Given the description of an element on the screen output the (x, y) to click on. 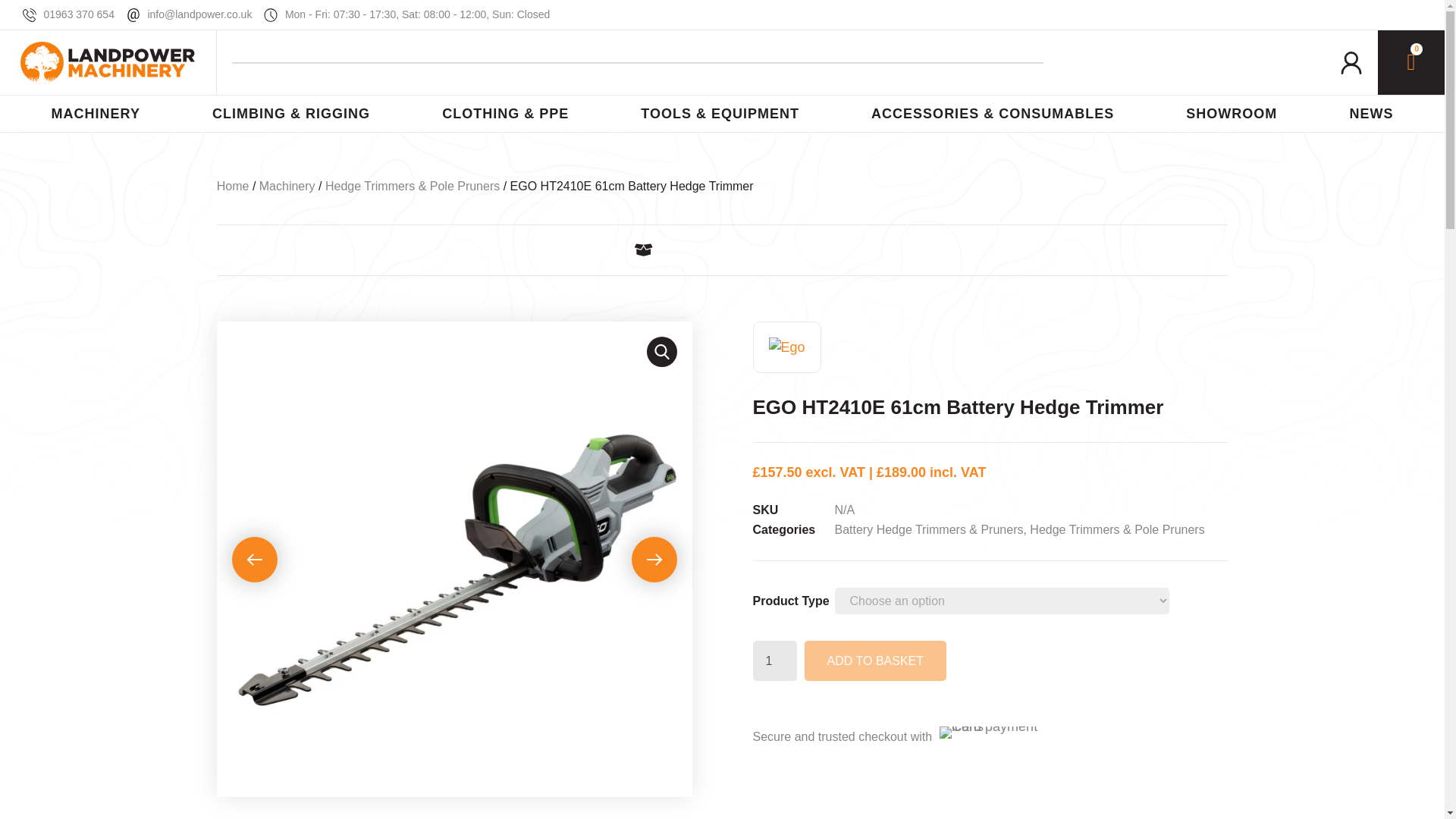
MACHINERY (95, 113)
Ego (786, 347)
1 (774, 660)
01963 370 654 (69, 14)
